Given the description of an element on the screen output the (x, y) to click on. 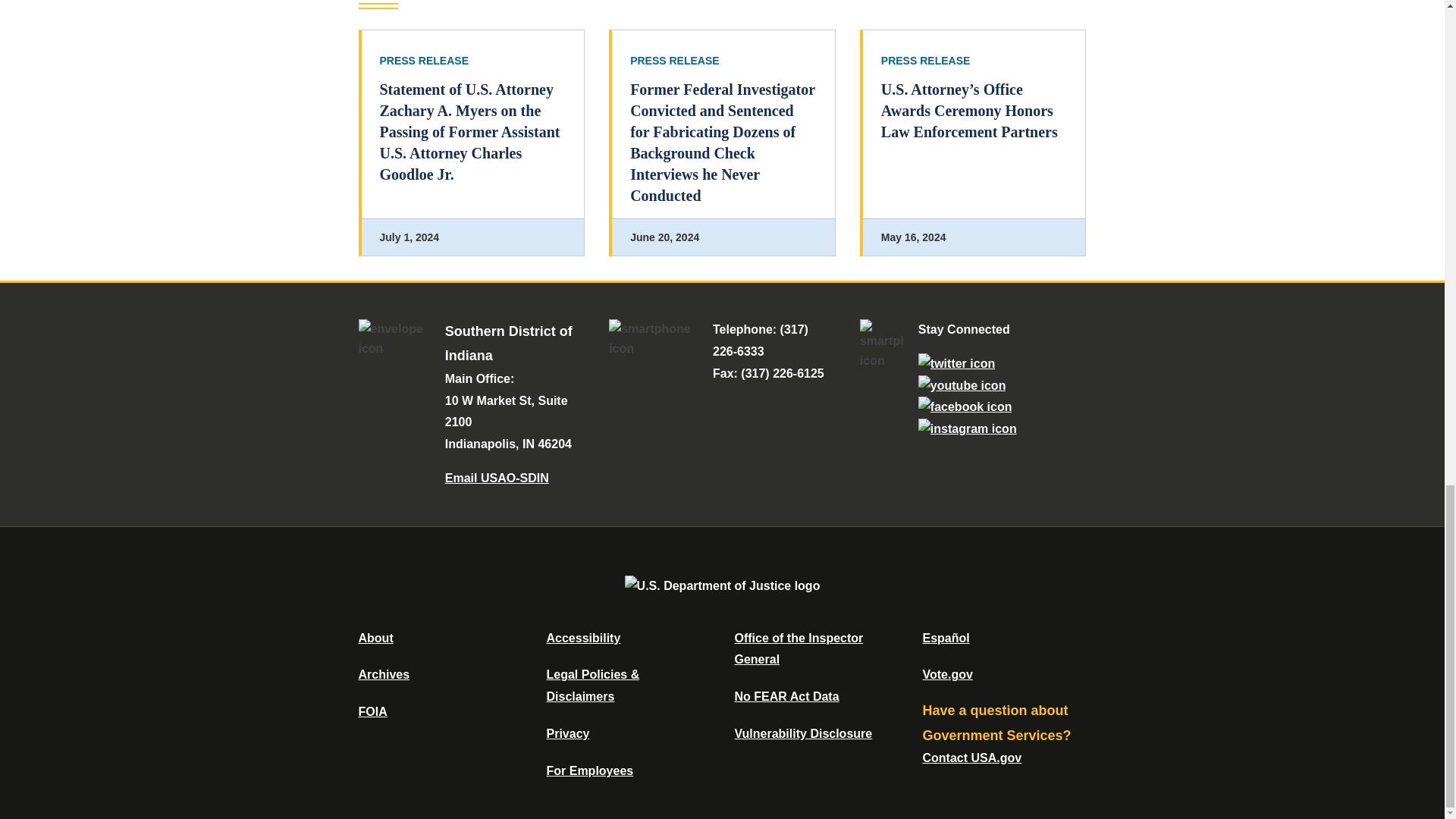
Data Posted Pursuant To The No Fear Act (785, 696)
Office of Information Policy (372, 711)
Legal Policies and Disclaimers (592, 685)
Department of Justice Archive (383, 674)
For Employees (589, 770)
Accessibility Statement (583, 637)
About DOJ (375, 637)
